Given the description of an element on the screen output the (x, y) to click on. 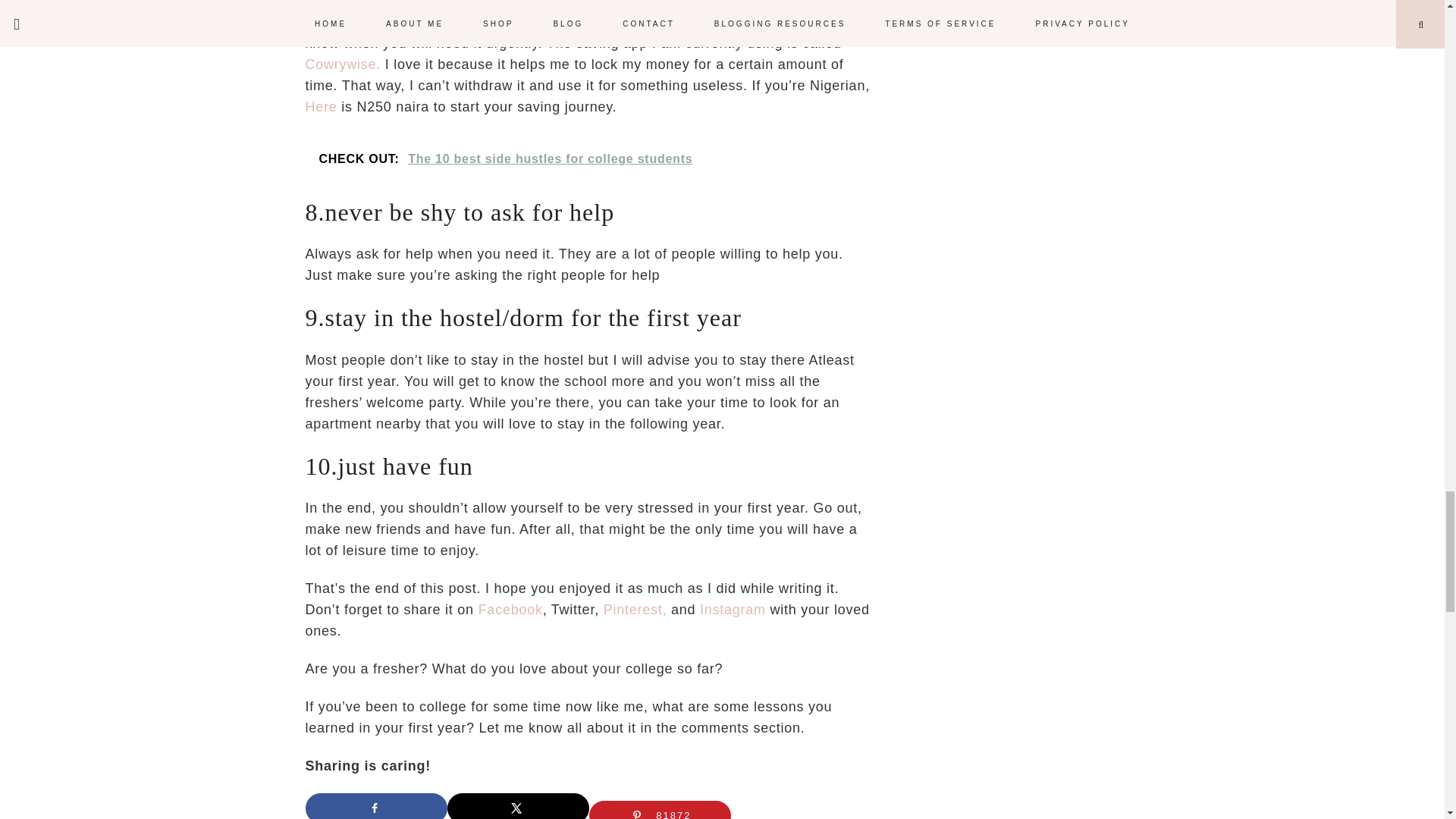
Share on Facebook (375, 806)
Save to Pinterest (659, 809)
Share on X (517, 806)
